Given the description of an element on the screen output the (x, y) to click on. 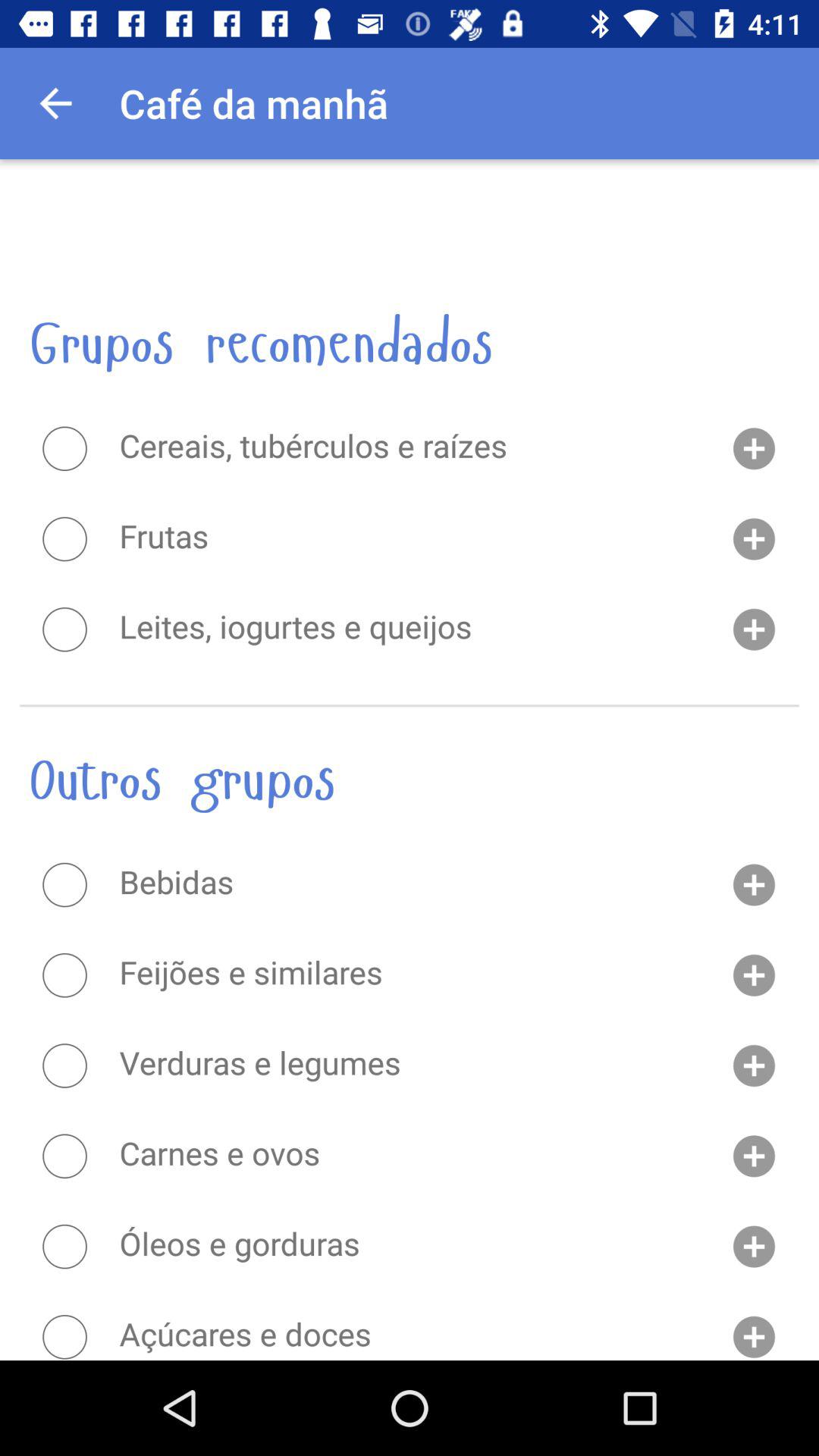
a blank clickable circle that when pressed selects an item (64, 448)
